Given the description of an element on the screen output the (x, y) to click on. 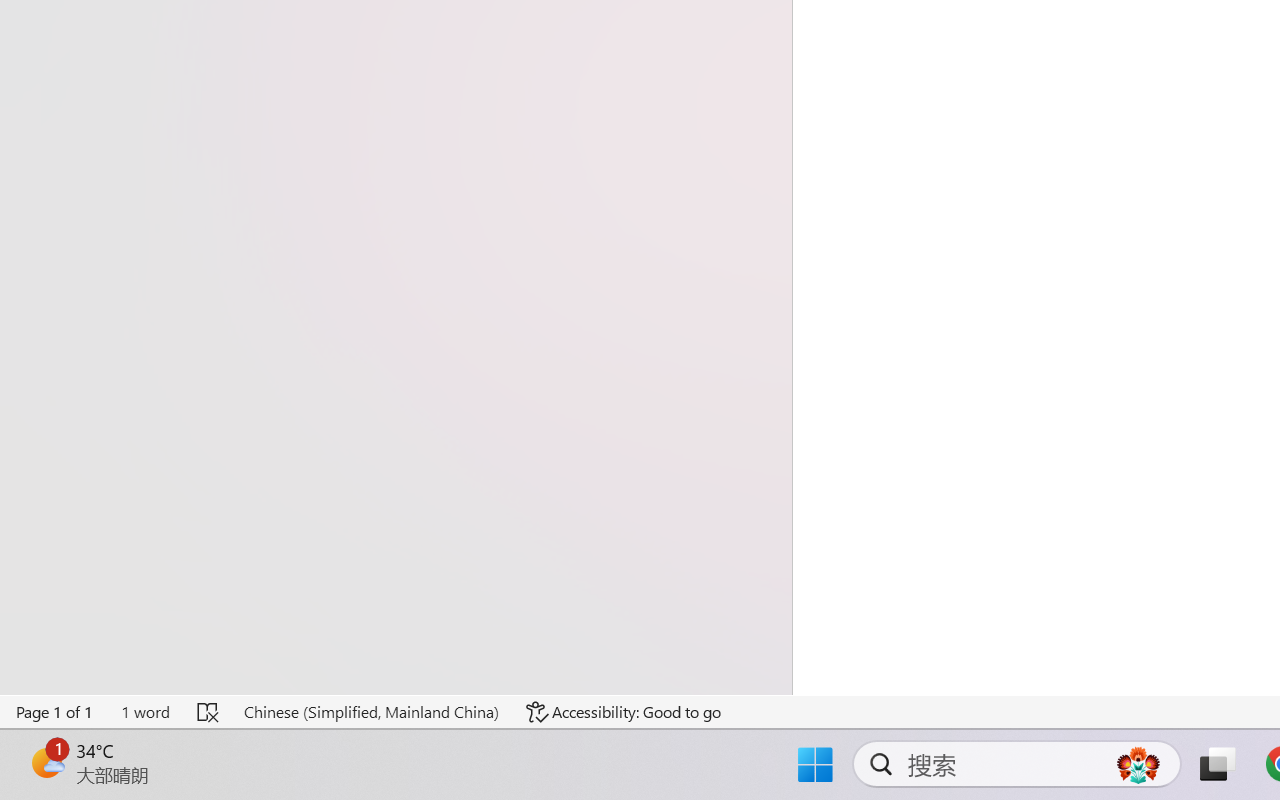
Spelling and Grammar Check Errors (208, 712)
Language Chinese (Simplified, Mainland China) (370, 712)
